Given the description of an element on the screen output the (x, y) to click on. 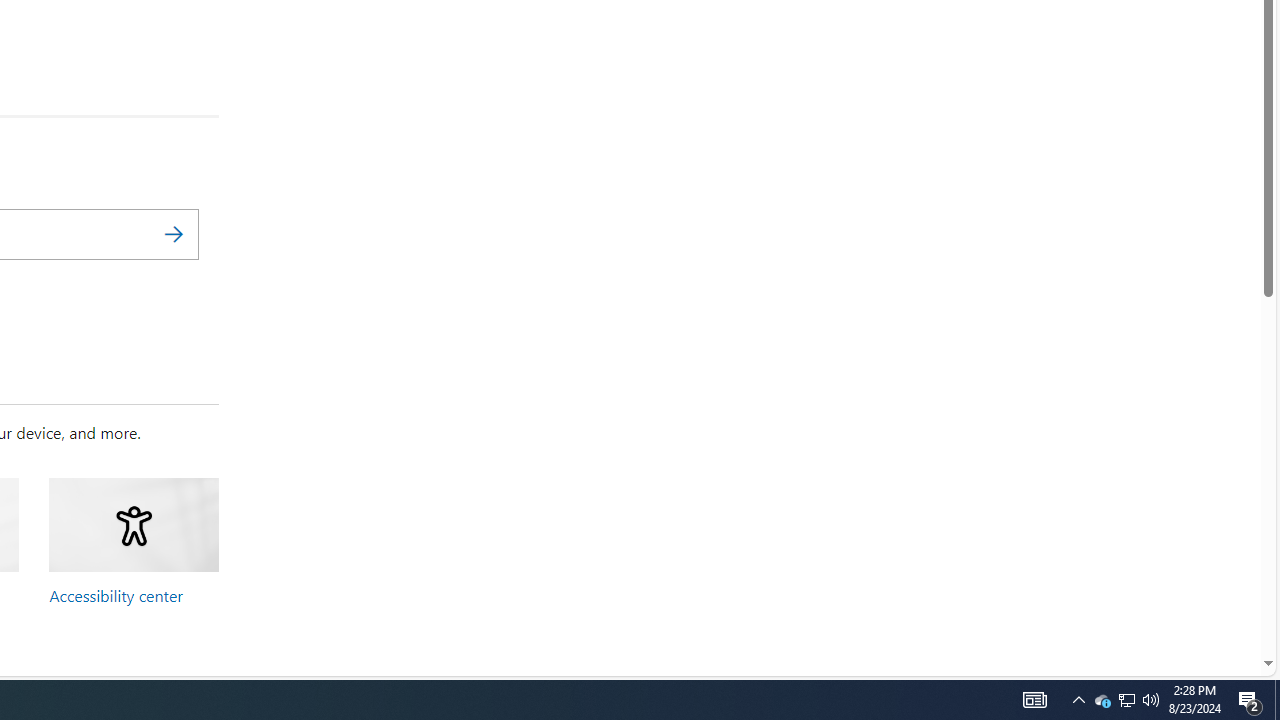
Accessibility center (115, 595)
